Given the description of an element on the screen output the (x, y) to click on. 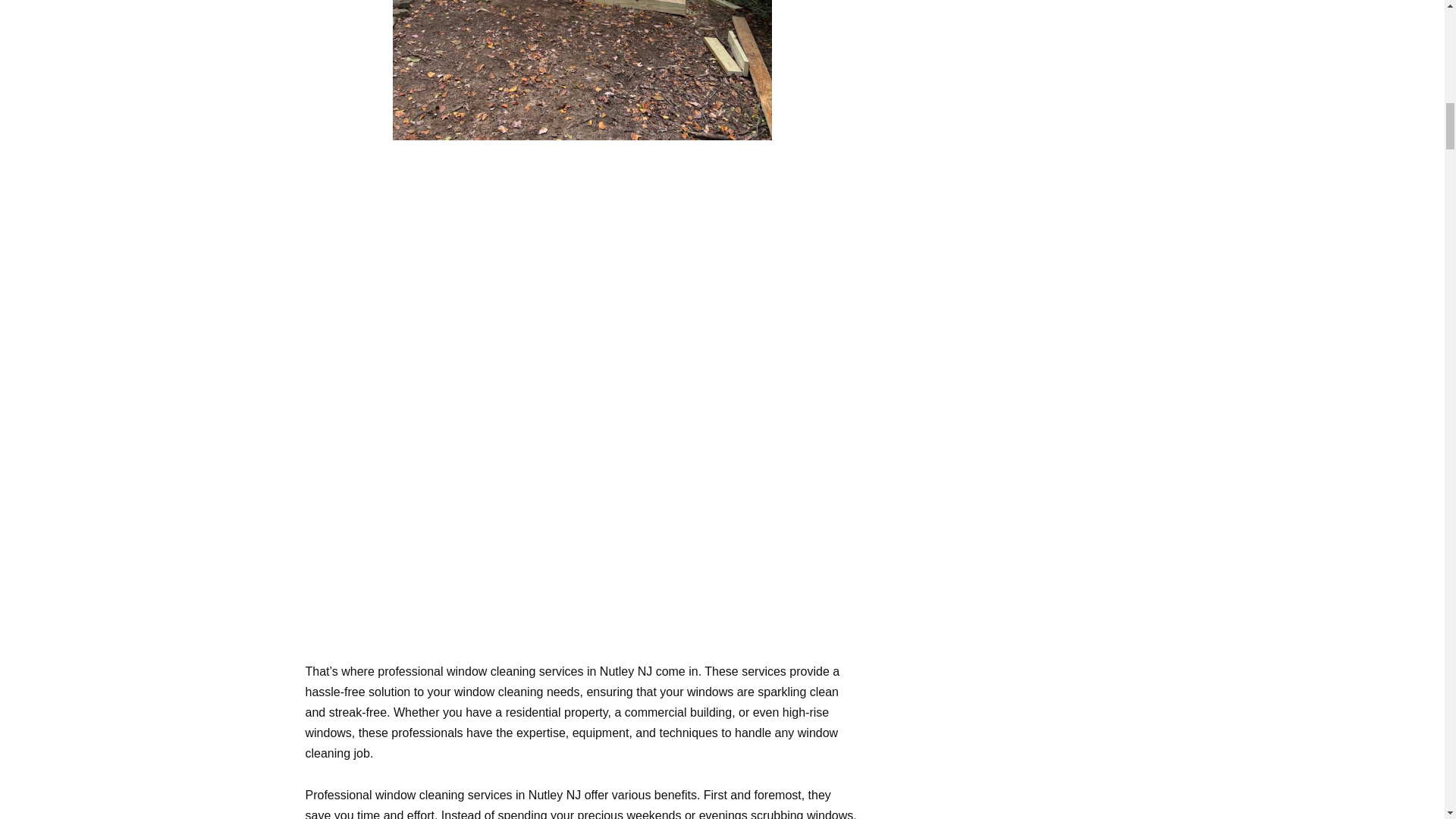
YouTube video player (581, 516)
YouTube video player (581, 271)
